Given the description of an element on the screen output the (x, y) to click on. 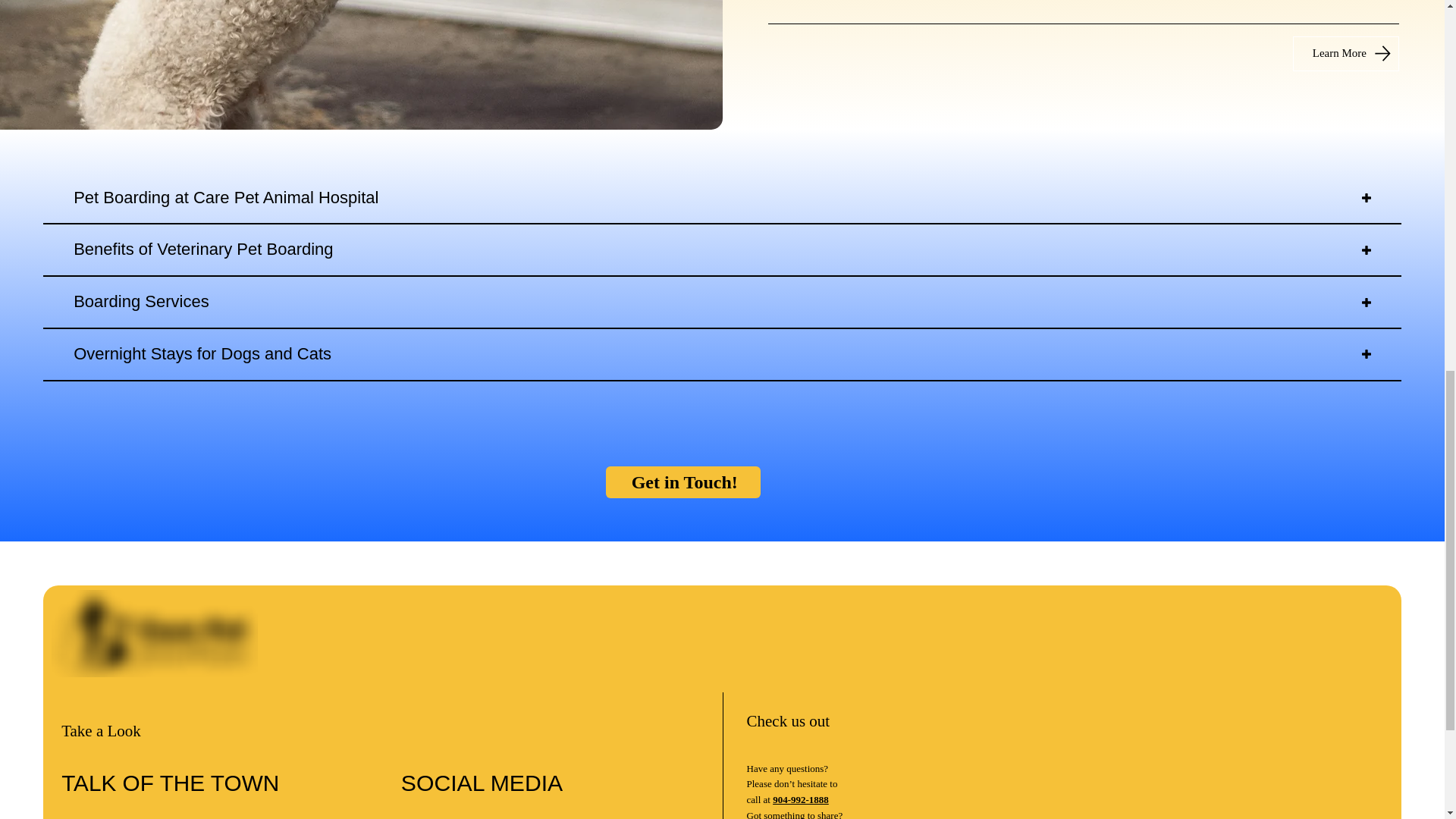
Get in Touch! (682, 481)
Pet Boarding at Care Pet Animal Hospital (721, 198)
Benefits of Veterinary Pet Boarding (721, 250)
Learn More (1345, 53)
TALK OF THE TOWN (170, 782)
Overnight Stays for Dogs and Cats (721, 354)
Boarding Services (721, 302)
904-992-1888 (800, 799)
